Given the description of an element on the screen output the (x, y) to click on. 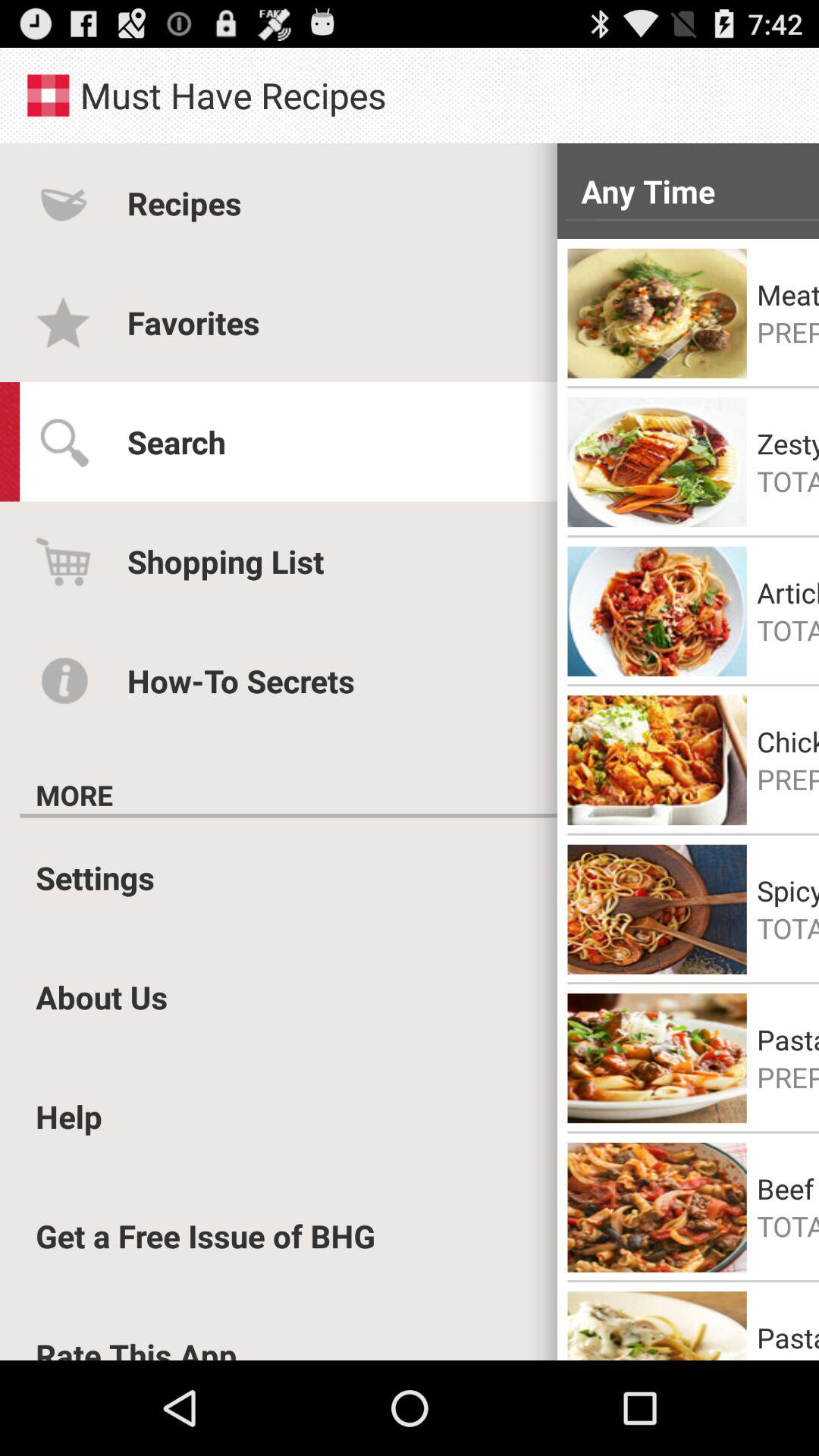
tap about us app (101, 996)
